Given the description of an element on the screen output the (x, y) to click on. 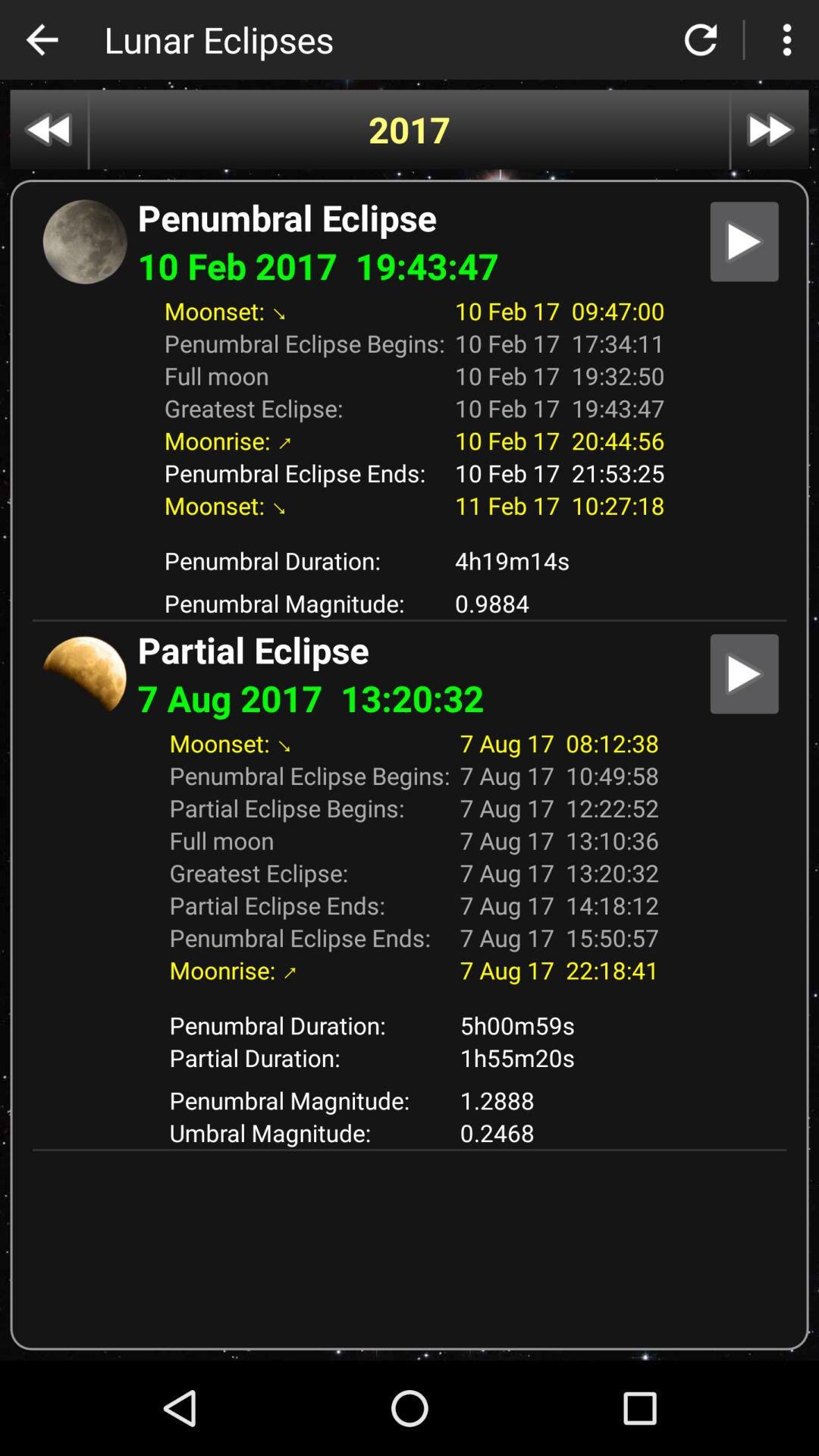
press the icon above the penumbral duration: (409, 532)
